Given the description of an element on the screen output the (x, y) to click on. 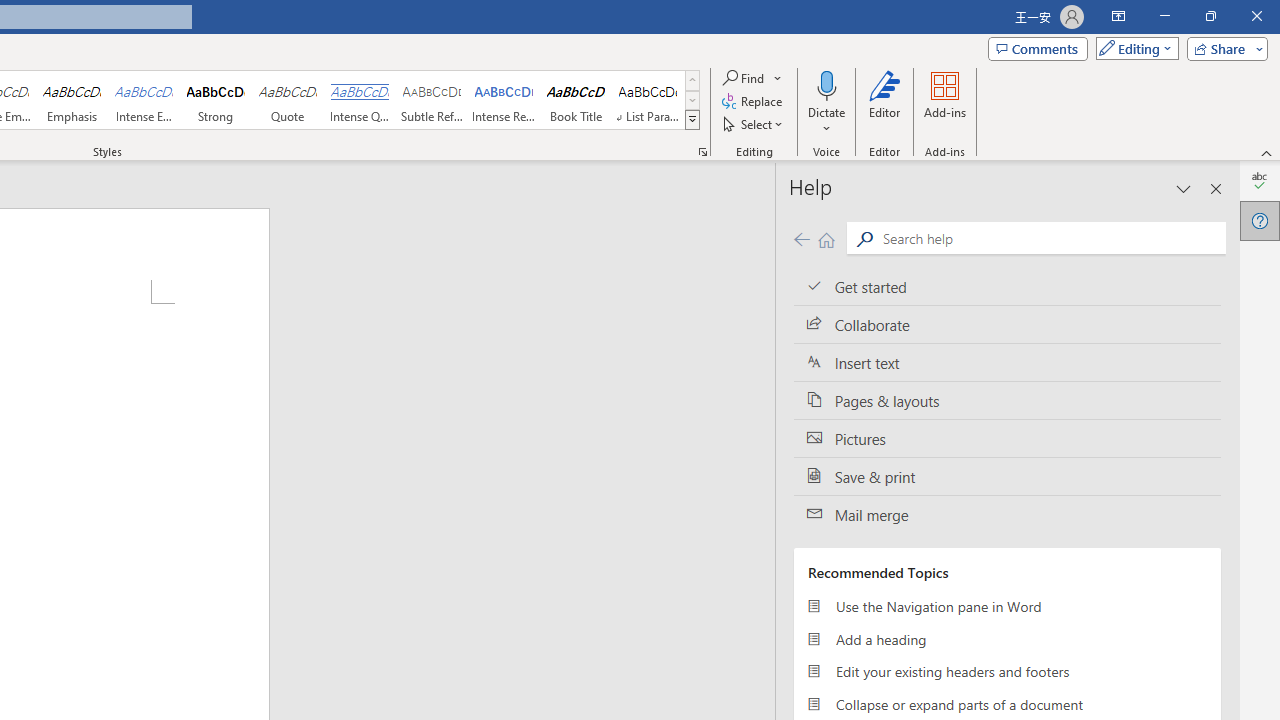
Pages & layouts (1007, 400)
Collapse or expand parts of a document (1007, 704)
Emphasis (71, 100)
